Given the description of an element on the screen output the (x, y) to click on. 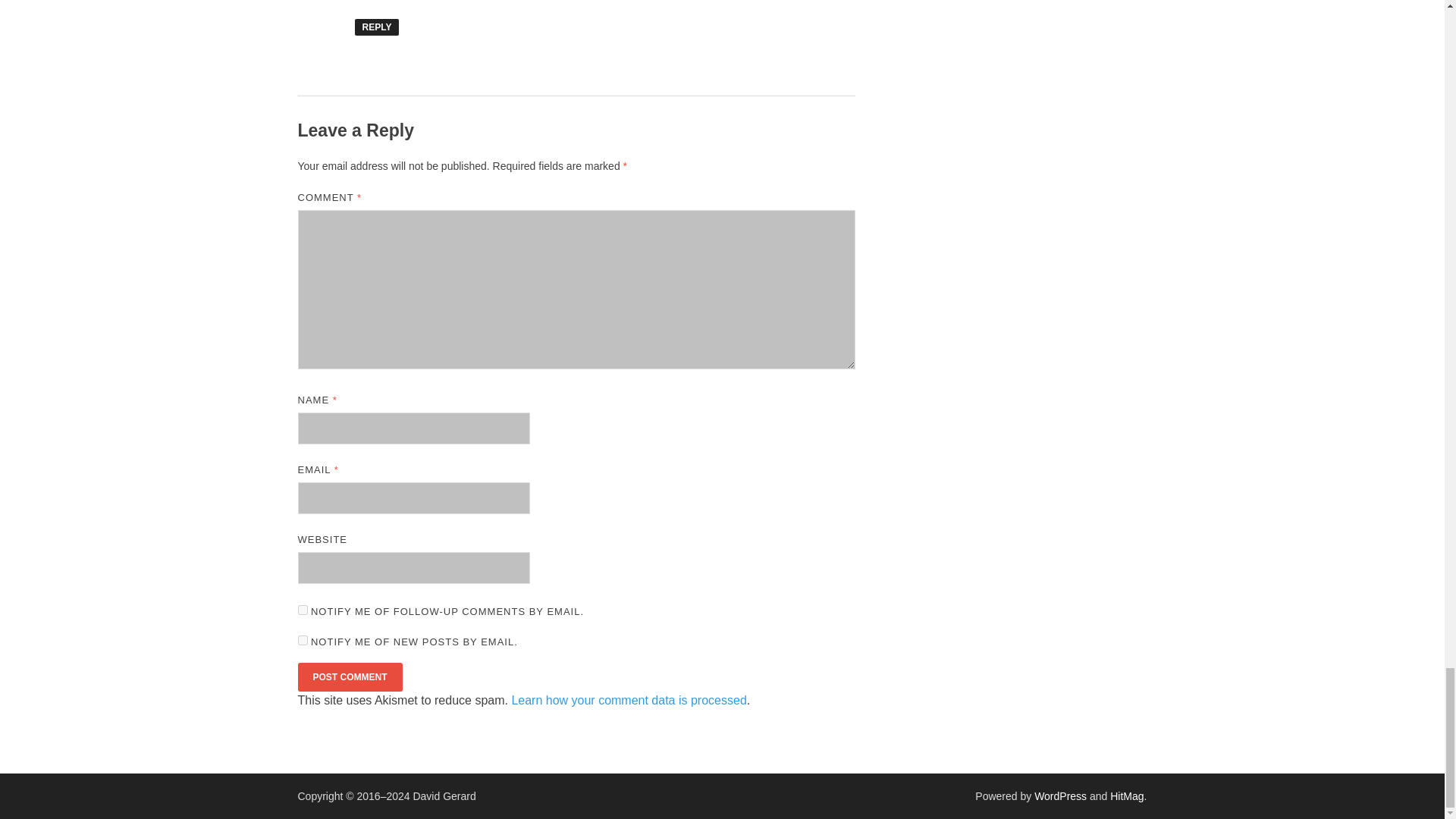
subscribe (302, 610)
Post Comment (349, 676)
subscribe (302, 640)
